Given the description of an element on the screen output the (x, y) to click on. 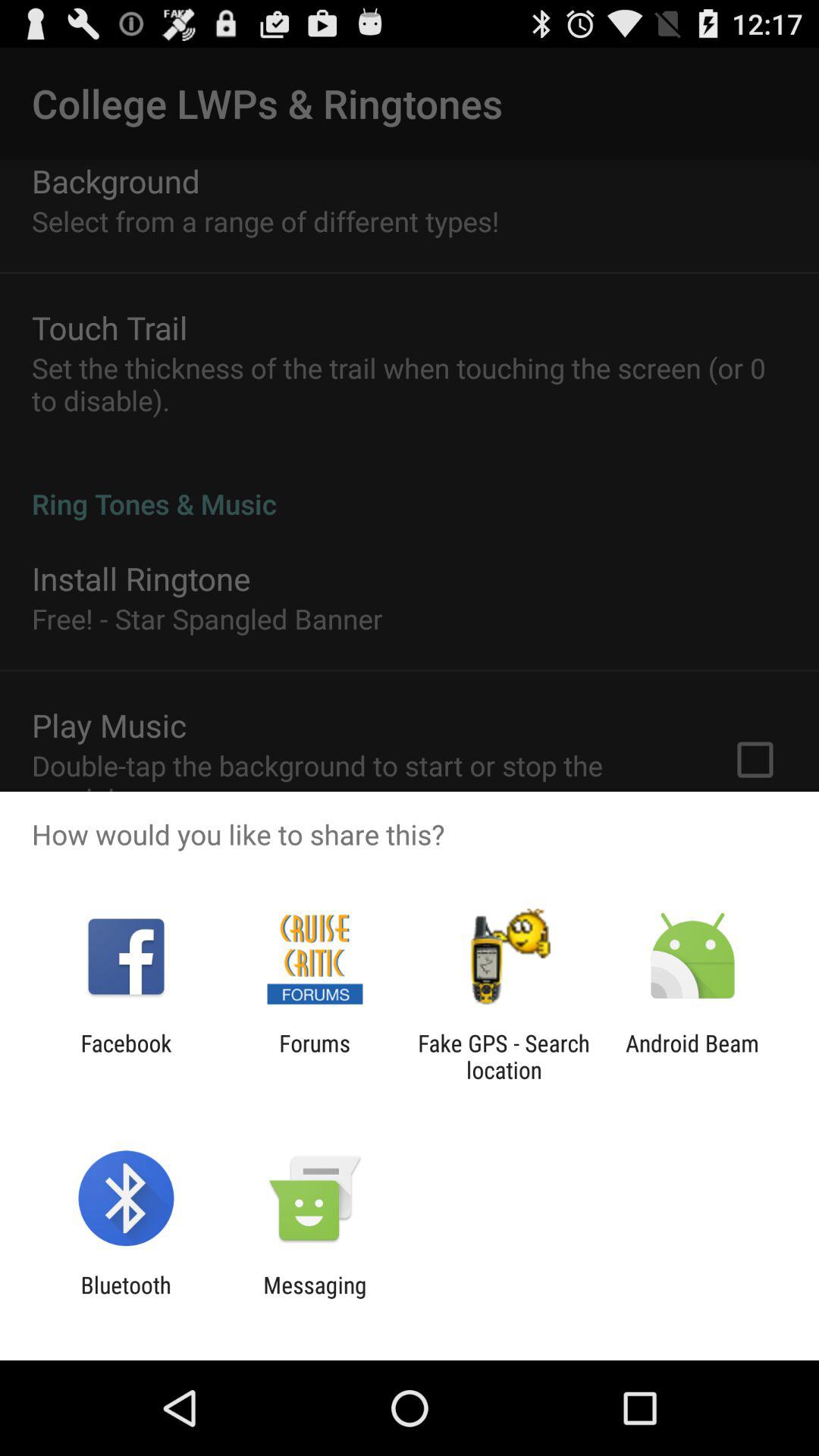
turn on app next to the fake gps search (314, 1056)
